Given the description of an element on the screen output the (x, y) to click on. 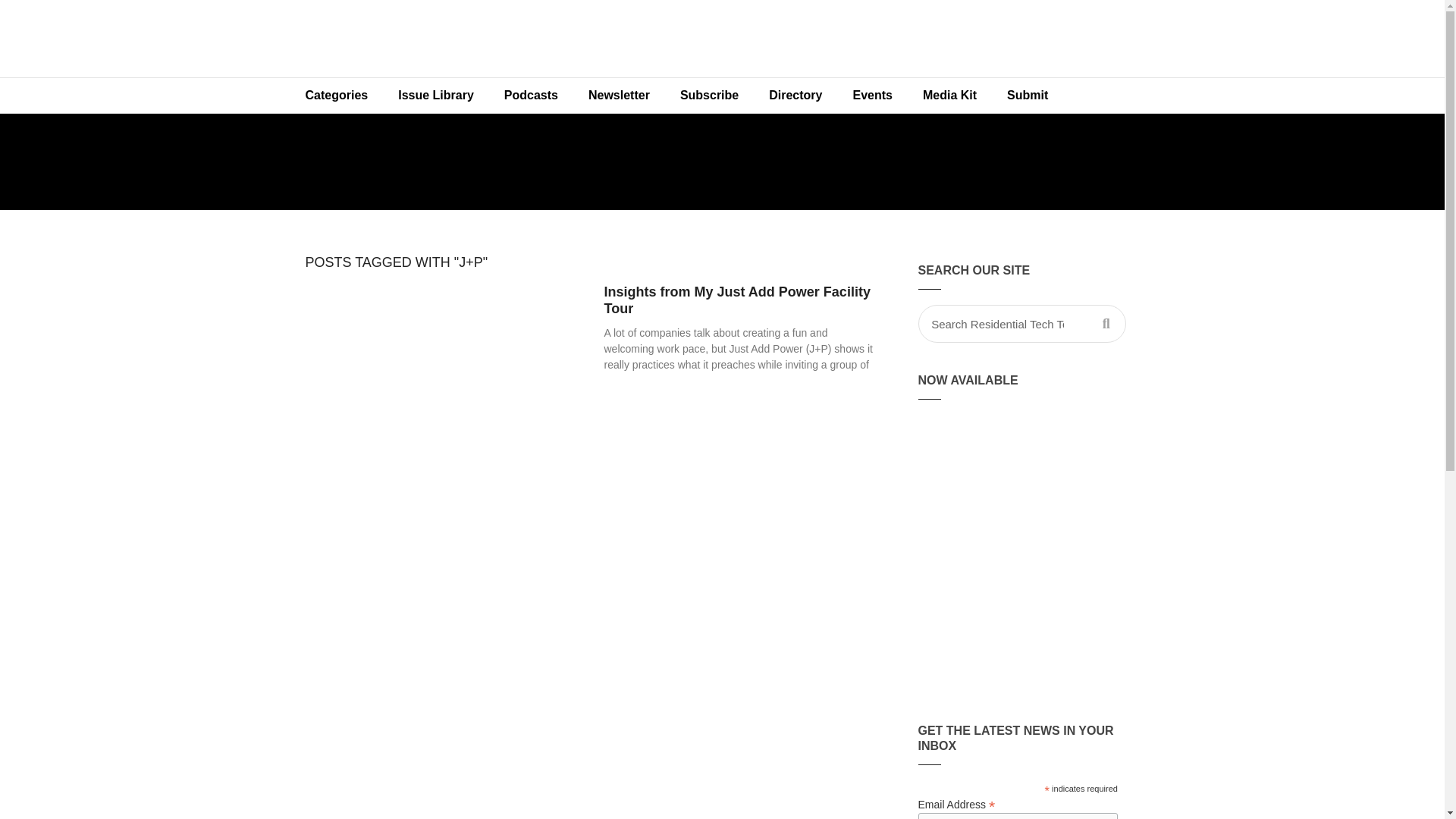
Events (872, 95)
Insights from My Just Add Power Facility Tour (736, 300)
Newsletter (619, 95)
Podcasts (531, 95)
Categories (335, 95)
Directory (795, 95)
Issue Library (435, 95)
Subscribe (709, 95)
Media Kit (949, 95)
Submit (1026, 95)
